Given the description of an element on the screen output the (x, y) to click on. 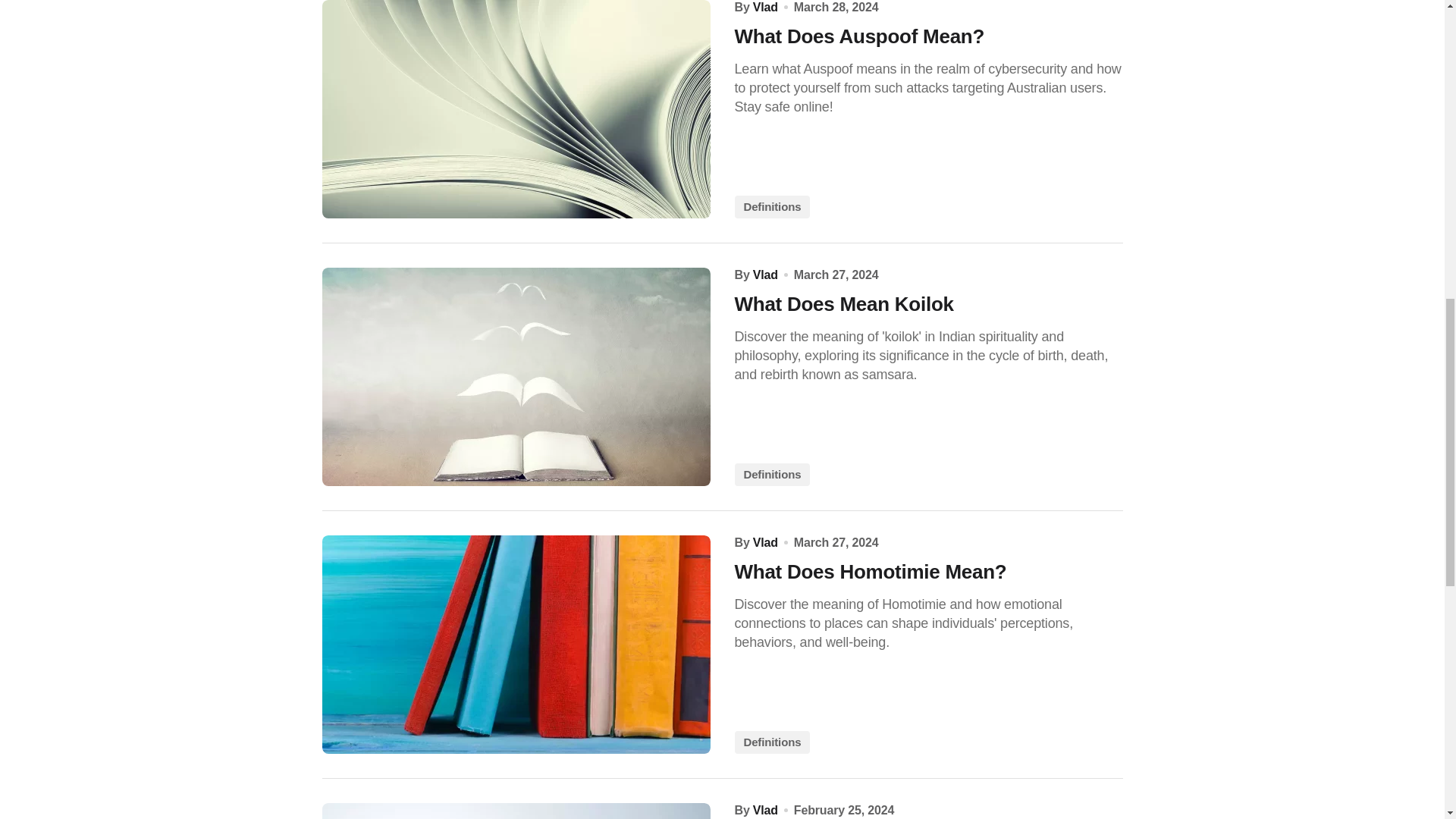
Definitions (771, 206)
What Does Mean Koilok (927, 304)
What Does Homotimie Mean? (515, 644)
Vlad (764, 810)
Vlad (764, 7)
What Does Homotimie Mean? (927, 571)
What Does Auspoof Mean? (515, 109)
Definitions (771, 474)
What Does FWB Mean in Text (515, 811)
Definitions (771, 742)
